Given the description of an element on the screen output the (x, y) to click on. 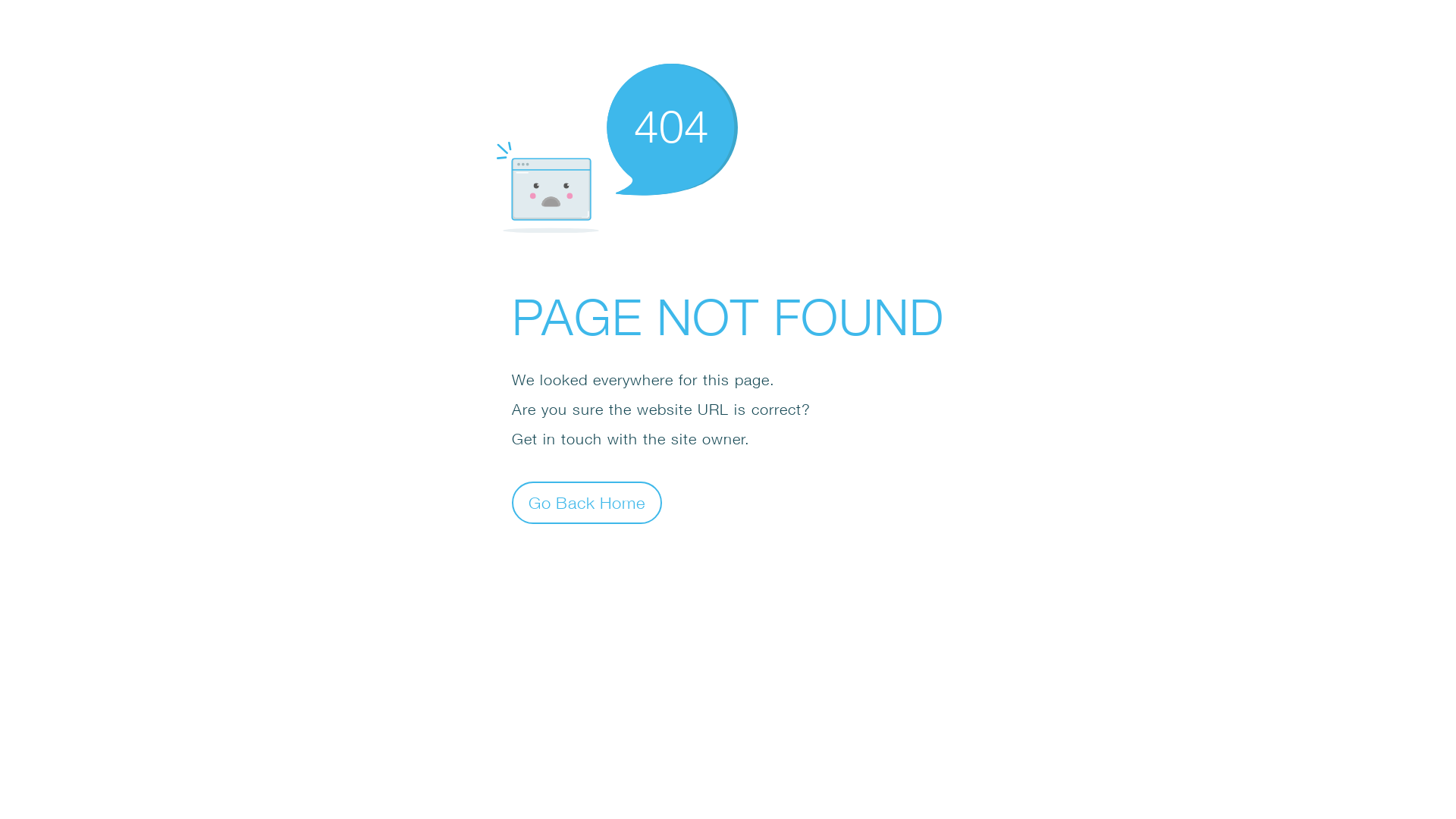
Go Back Home Element type: text (586, 502)
